Given the description of an element on the screen output the (x, y) to click on. 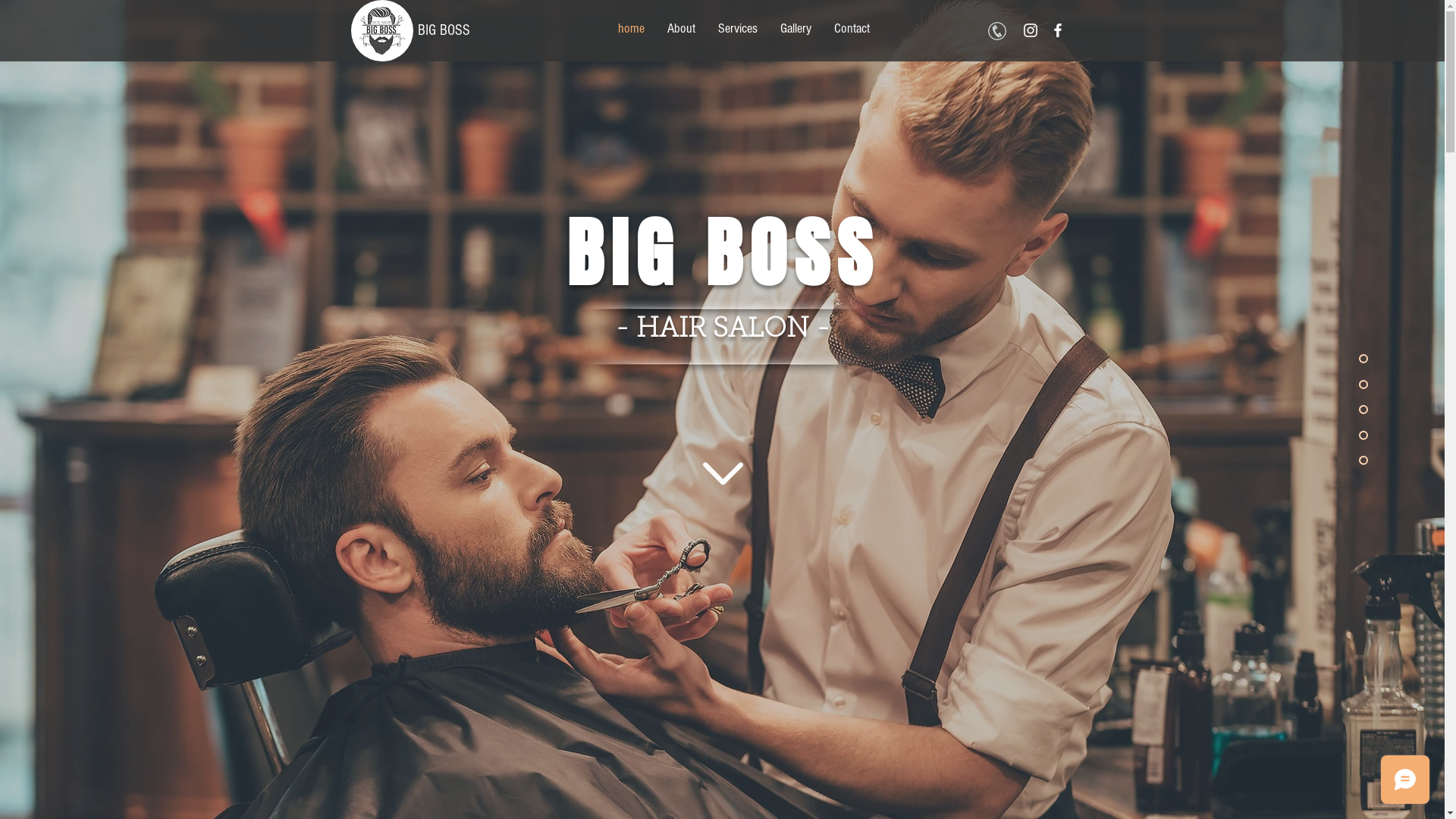
home Element type: text (630, 28)
Gallery Element type: text (795, 28)
BIG BOSS Element type: text (443, 29)
Services Element type: text (737, 28)
104171392_544646142880091_29099993027797 Element type: hover (381, 30)
6-68521_phone-icon-clip-art-phone-logo-w Element type: hover (996, 30)
About Element type: text (680, 28)
Contact Element type: text (851, 28)
